Given the description of an element on the screen output the (x, y) to click on. 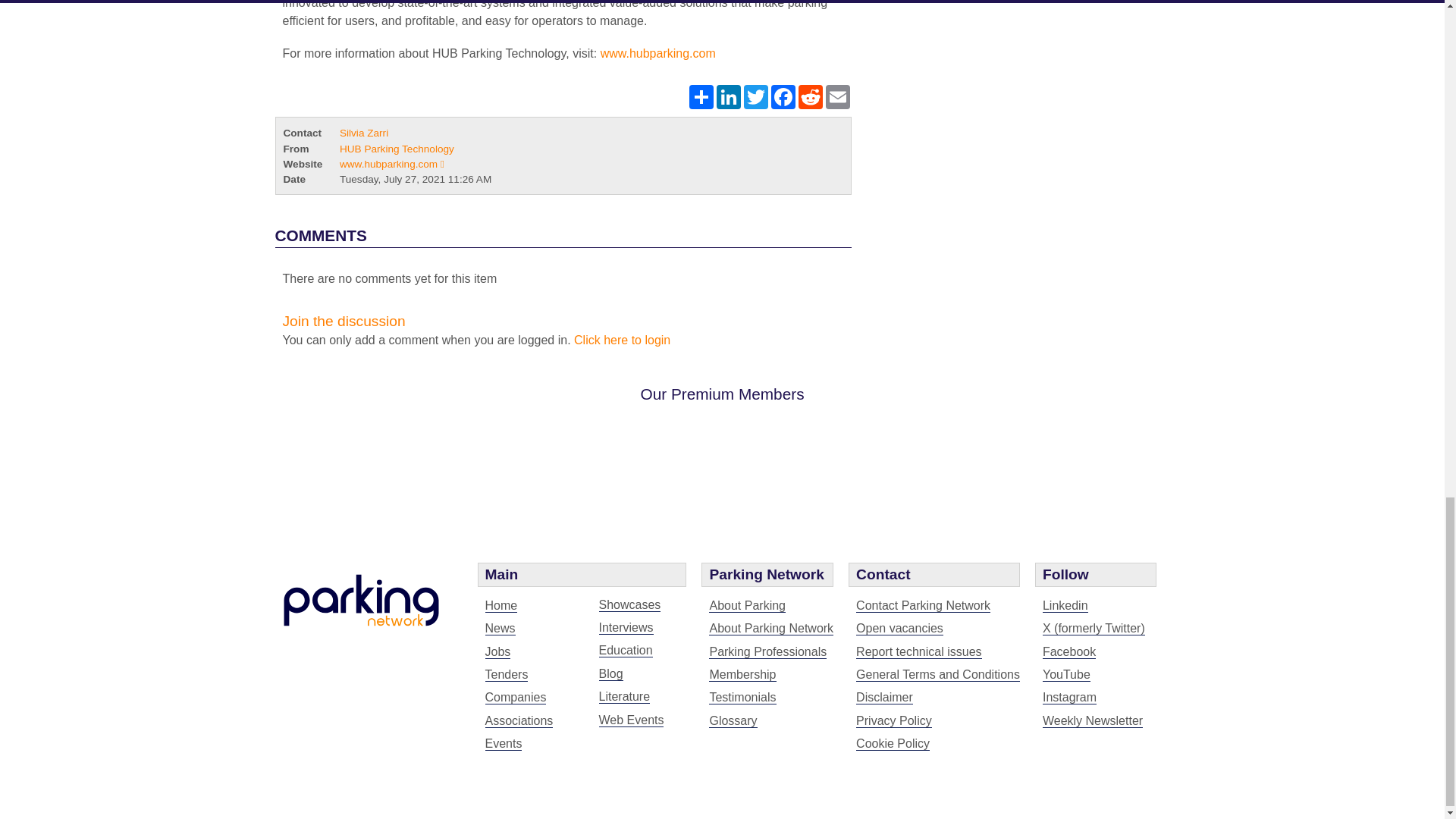
www.hubparking.com (657, 52)
visit www.hubparking.com (657, 52)
Click here to login (621, 339)
View profile of HUB Parking Technology  (396, 148)
View website of HUB Parking Technology  (391, 163)
